Given the description of an element on the screen output the (x, y) to click on. 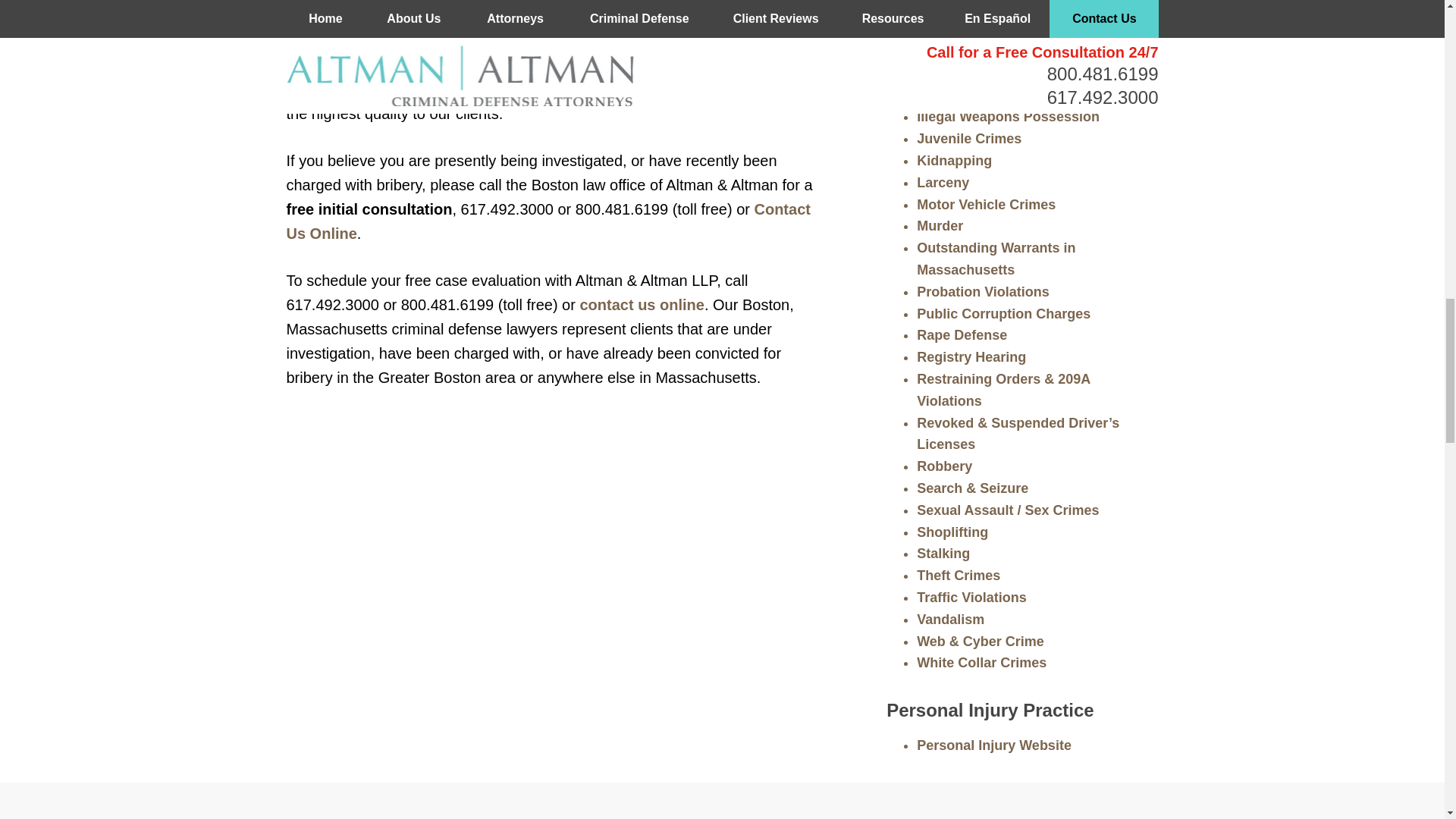
Contact Us Online (548, 220)
